Given the description of an element on the screen output the (x, y) to click on. 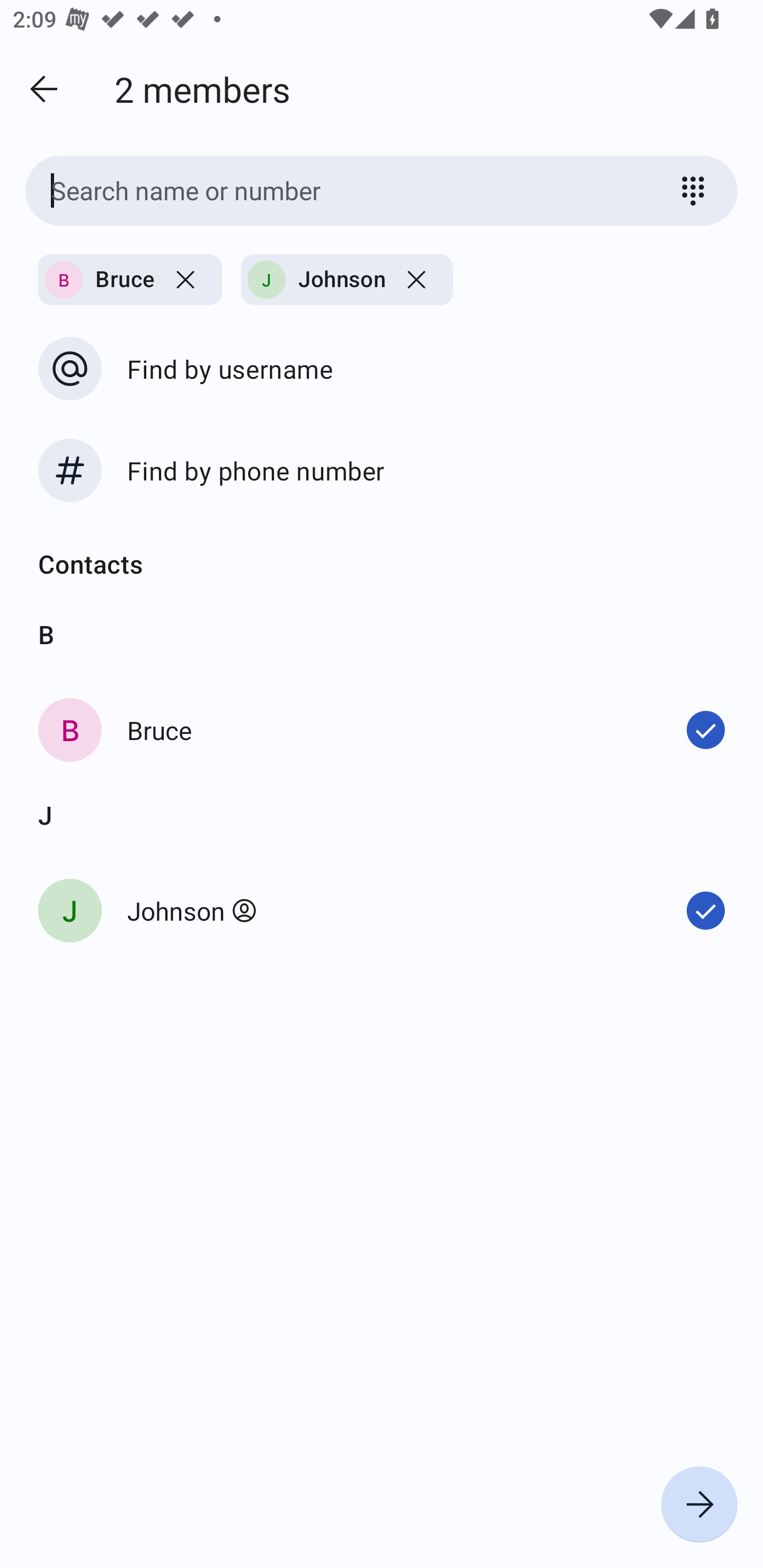
Next (699, 1504)
